Given the description of an element on the screen output the (x, y) to click on. 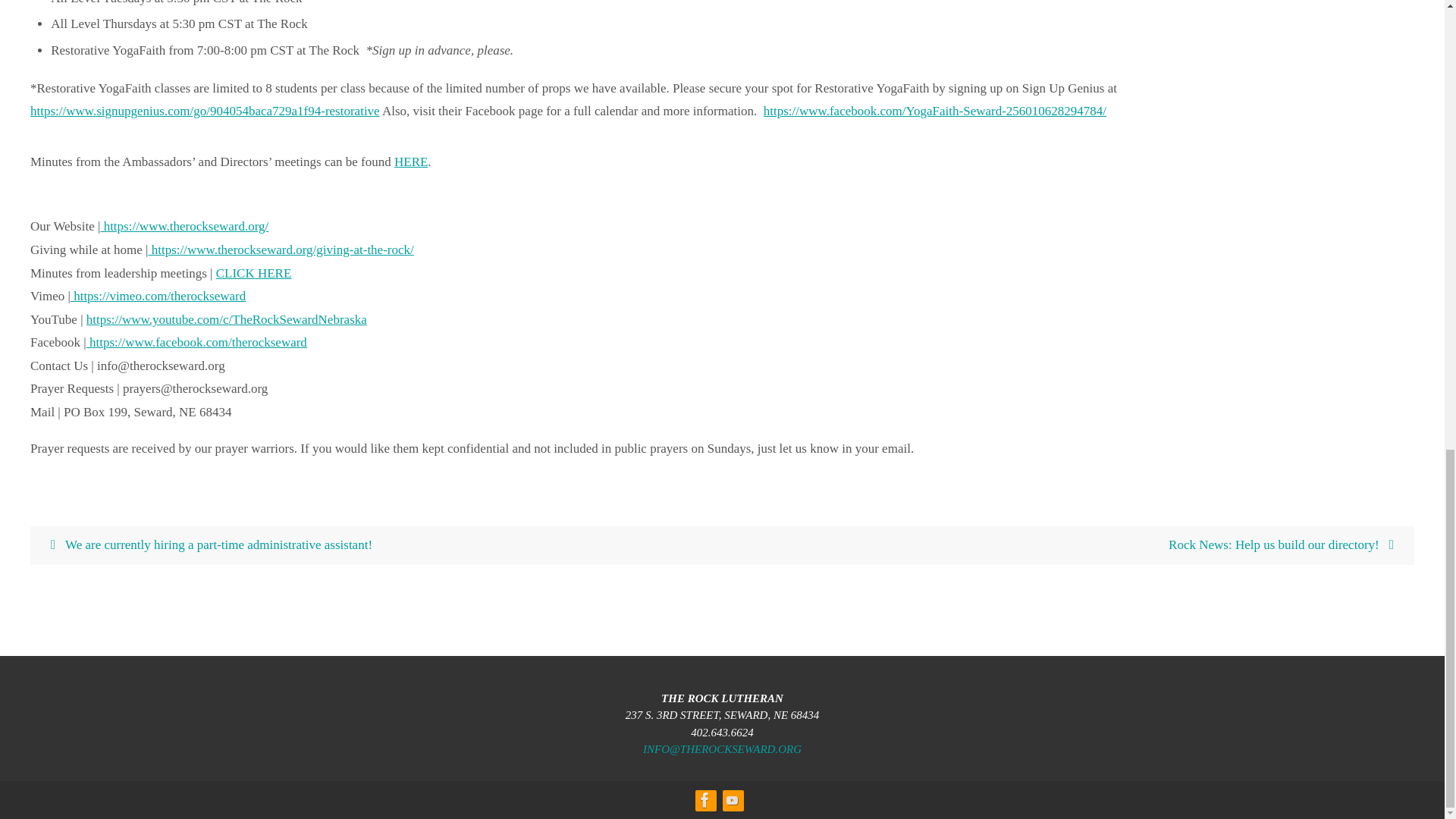
Rock News: Help us build our directory! (1067, 545)
YouTube (731, 799)
CLICK HERE (253, 273)
HERE (411, 161)
Facebook (704, 799)
